Given the description of an element on the screen output the (x, y) to click on. 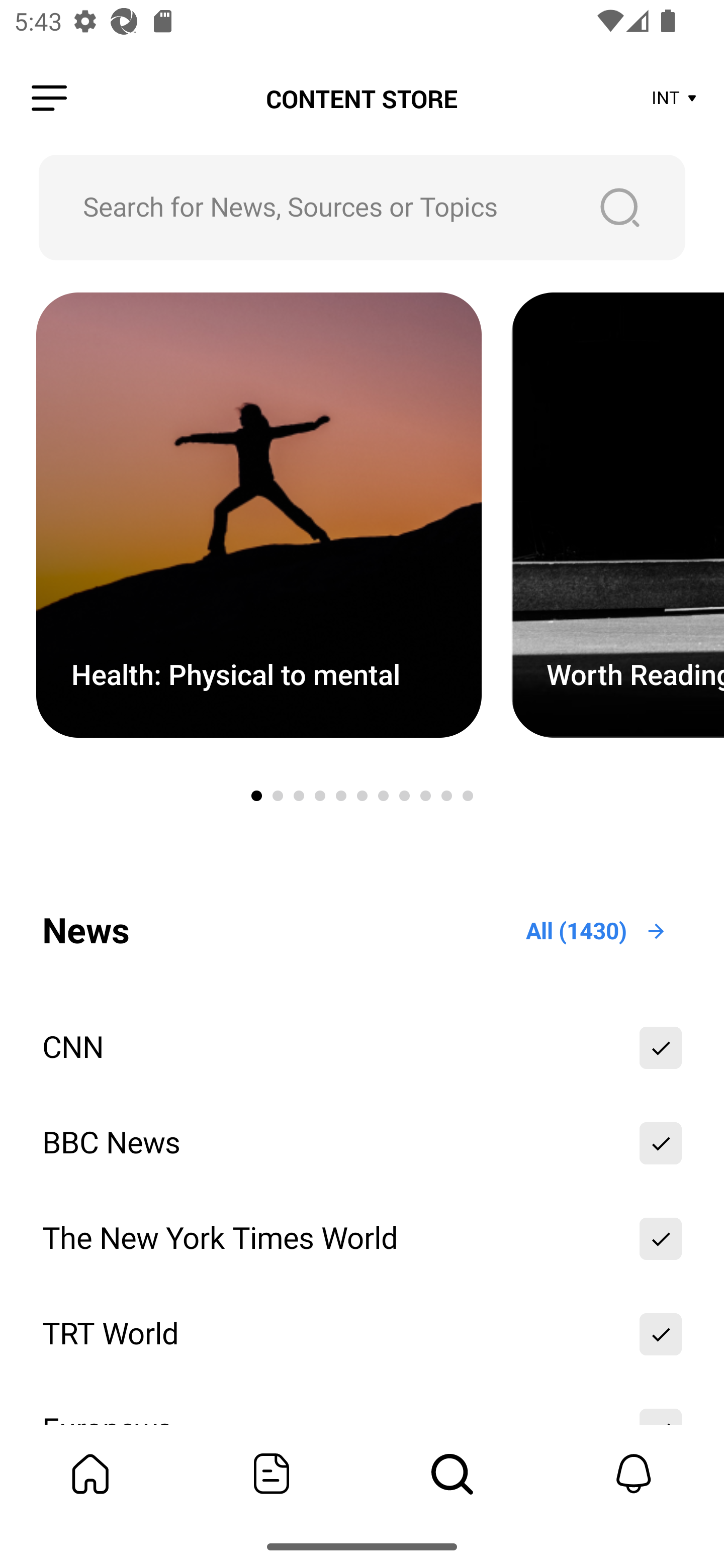
INT Store Area (674, 98)
Leading Icon (49, 98)
Search for News, Sources or Topics Search Button (361, 207)
All (1430) Open All Icon (596, 931)
CNN Add To My Bundle (361, 1047)
Add To My Bundle (660, 1047)
BBC News Add To My Bundle (361, 1142)
Add To My Bundle (660, 1142)
The New York Times World Add To My Bundle (361, 1238)
Add To My Bundle (660, 1238)
TRT World Add To My Bundle (361, 1334)
Add To My Bundle (660, 1334)
My Bundle (90, 1473)
Featured (271, 1473)
Notifications (633, 1473)
